Given the description of an element on the screen output the (x, y) to click on. 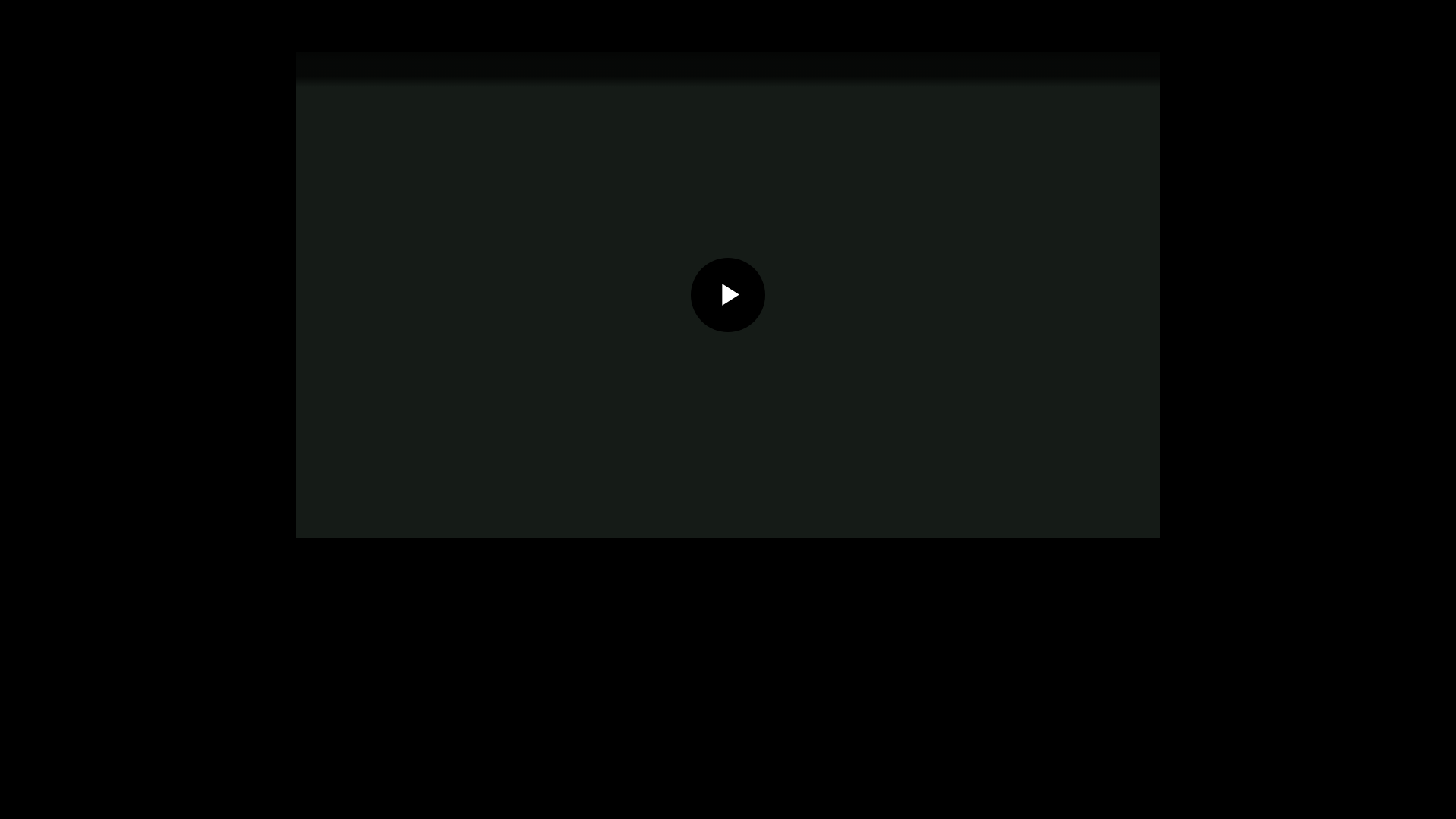
Play Video Element type: text (727, 294)
